Given the description of an element on the screen output the (x, y) to click on. 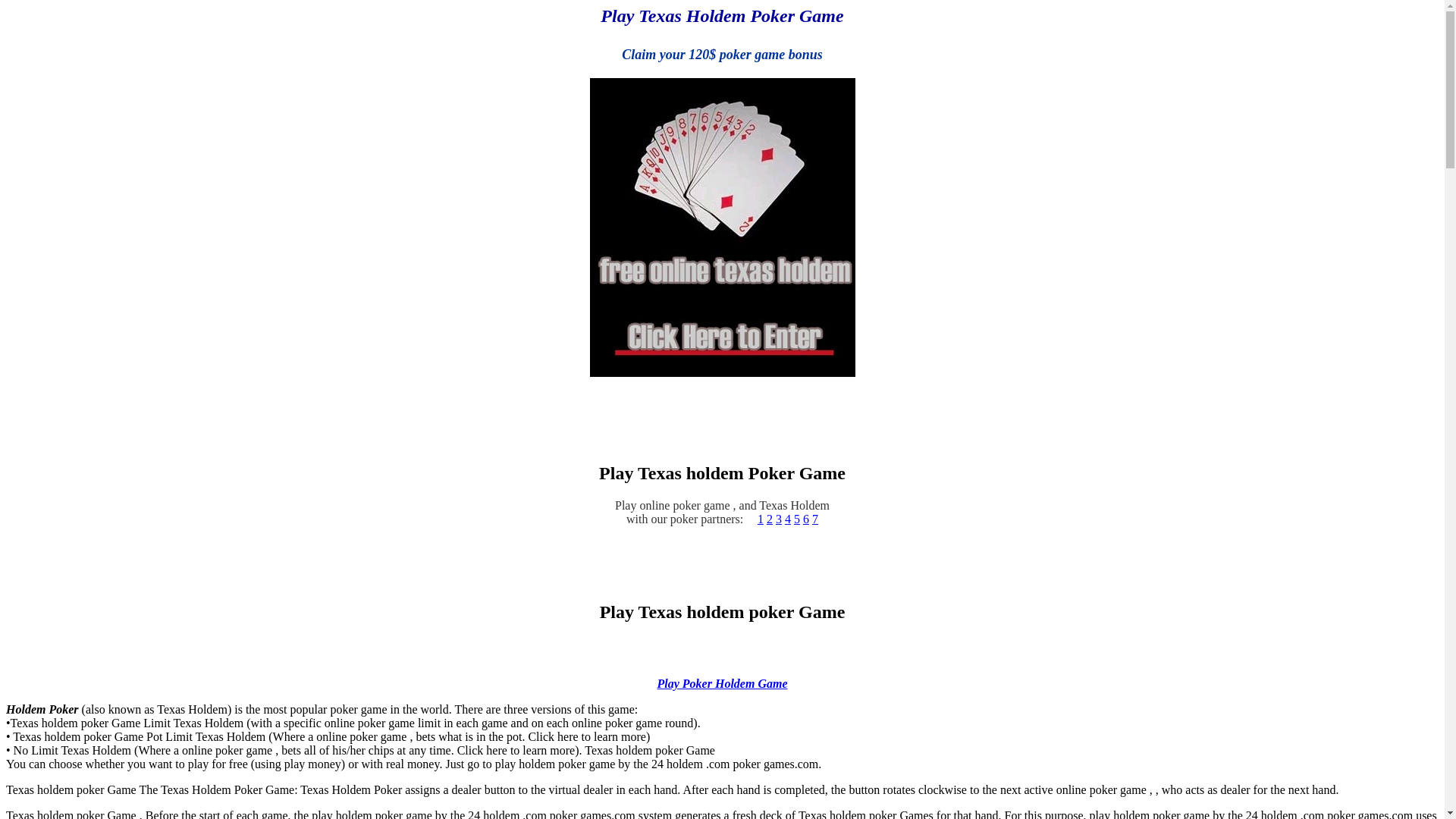
5 Element type: text (796, 518)
Play Poker Holdem Game Element type: text (722, 683)
1 Element type: text (760, 518)
2 Element type: text (769, 518)
3 Element type: text (778, 518)
6 Element type: text (806, 518)
4 Element type: text (787, 518)
7 Element type: text (815, 518)
